Given the description of an element on the screen output the (x, y) to click on. 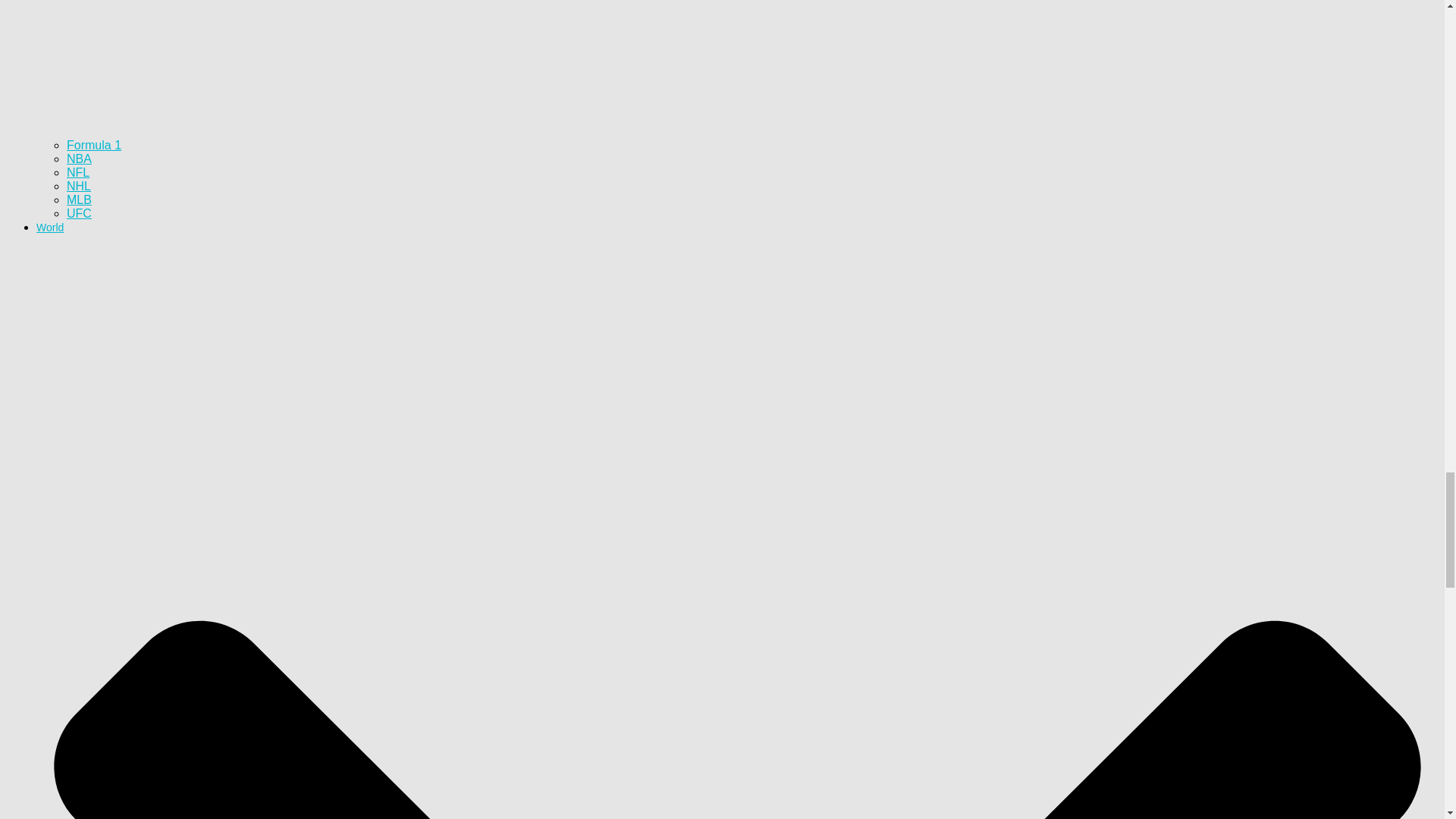
Formula 1 (93, 144)
NHL (78, 185)
UFC (78, 213)
NFL (77, 172)
NFL (77, 172)
NBA (78, 158)
MLB (78, 199)
NHL (78, 185)
Formula 1 (93, 144)
NBA (78, 158)
